Given the description of an element on the screen output the (x, y) to click on. 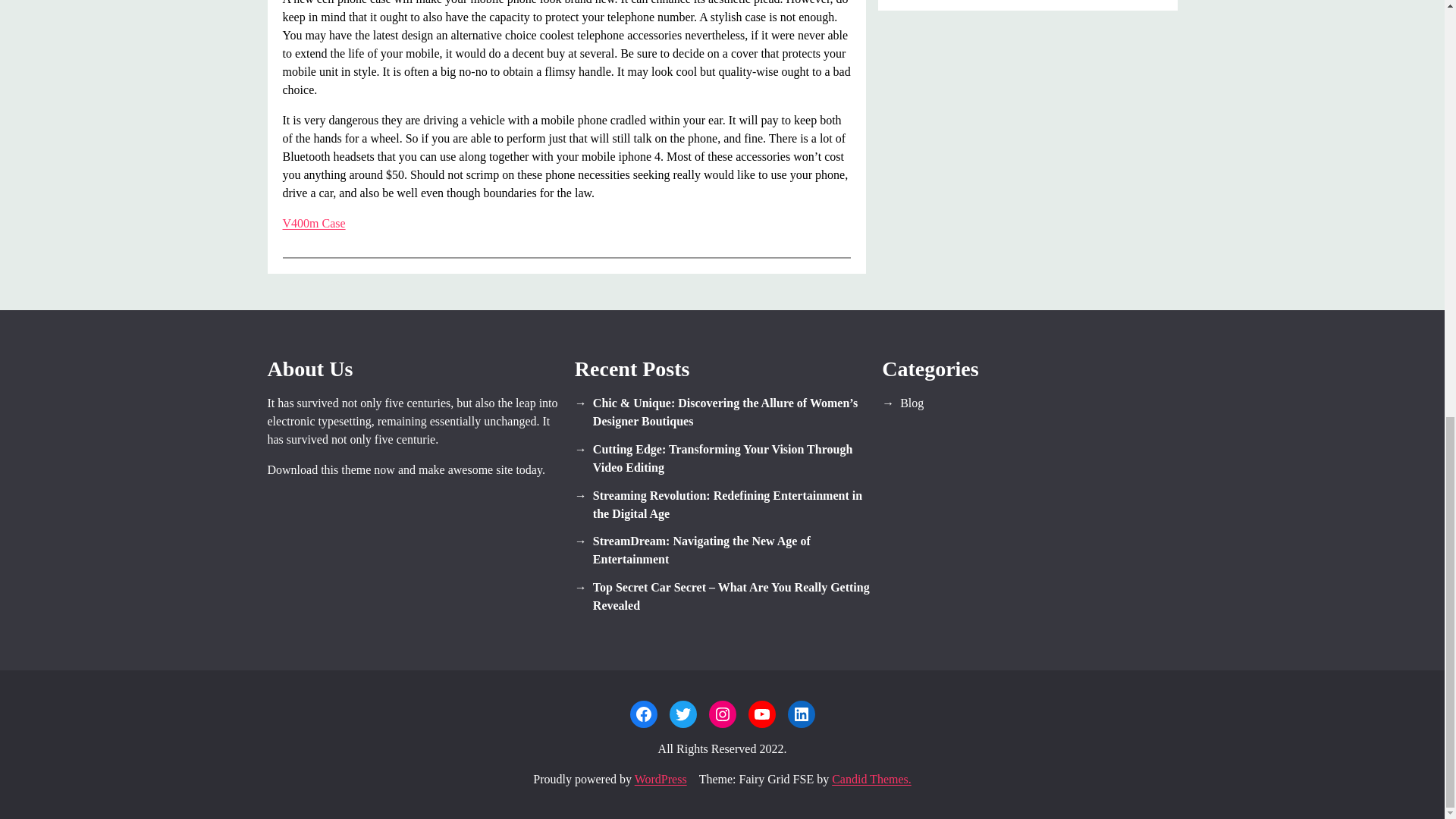
StreamDream: Navigating the New Age of Entertainment (722, 550)
Candid Themes. (871, 779)
V400m Case (313, 223)
Facebook (642, 714)
Blog (1029, 402)
Cutting Edge: Transforming Your Vision Through Video Editing (722, 458)
WordPress (660, 779)
YouTube (761, 714)
LinkedIn (800, 714)
